Given the description of an element on the screen output the (x, y) to click on. 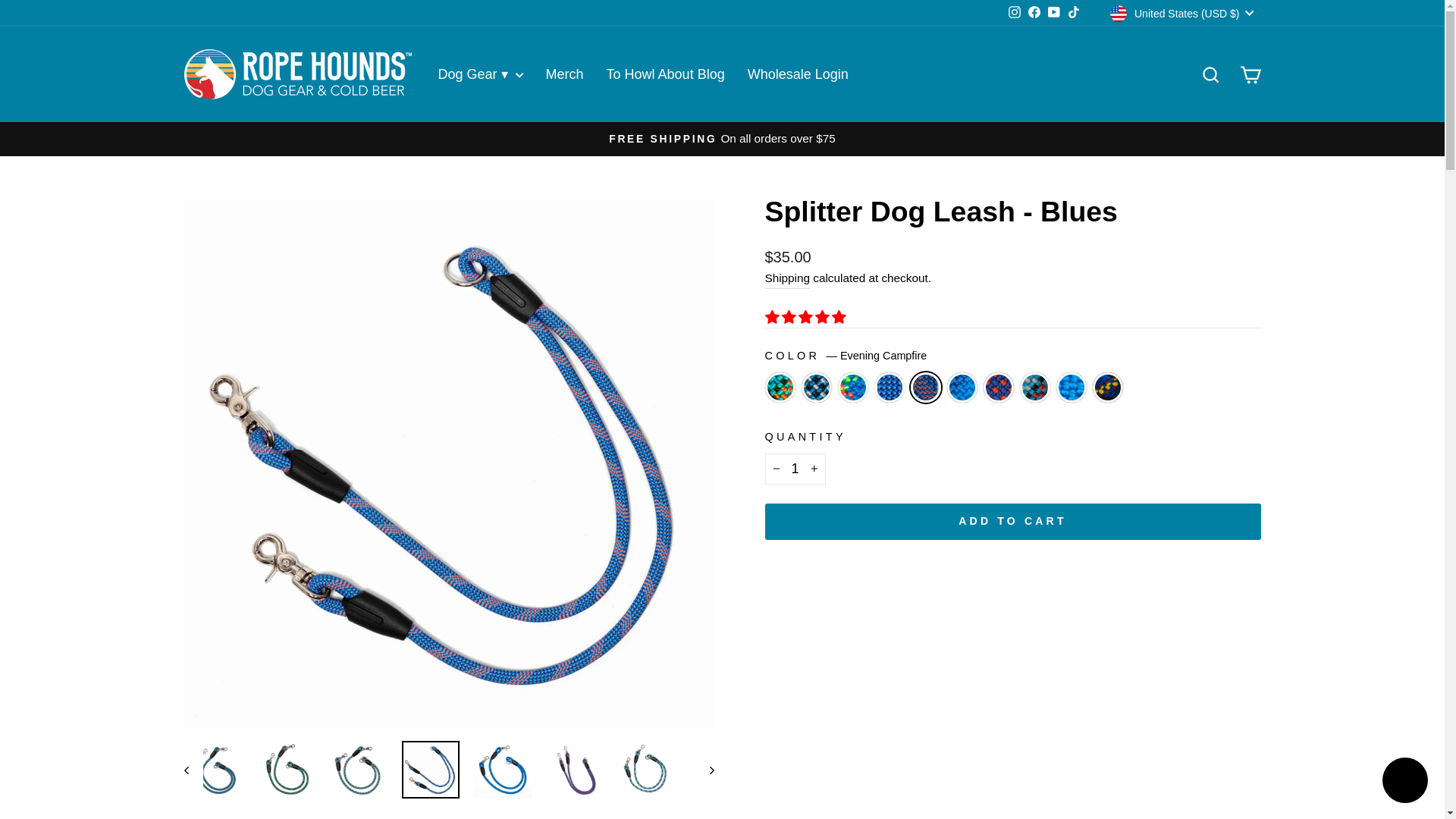
Shopify online store chat (1404, 781)
icon-search (1210, 74)
1 (794, 468)
